Given the description of an element on the screen output the (x, y) to click on. 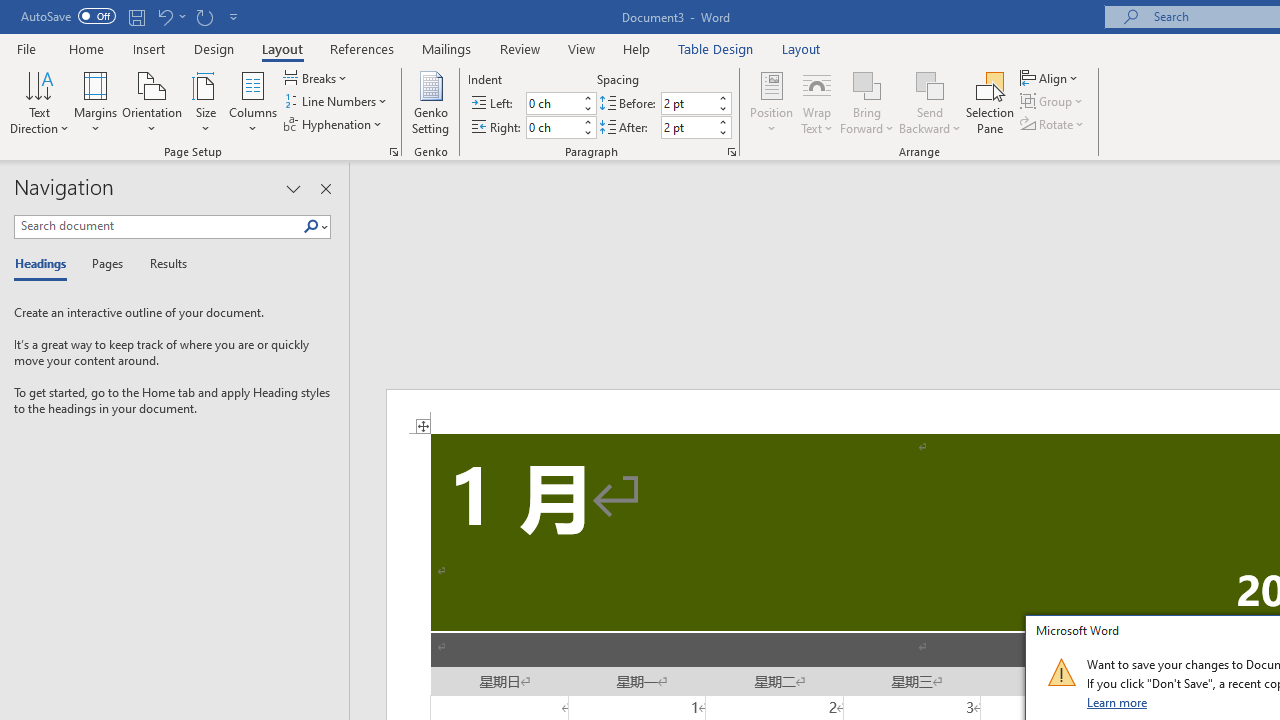
More (722, 121)
Genko Setting... (430, 102)
Group (1053, 101)
Orientation (152, 102)
Line Numbers (337, 101)
Less (722, 132)
